Given the description of an element on the screen output the (x, y) to click on. 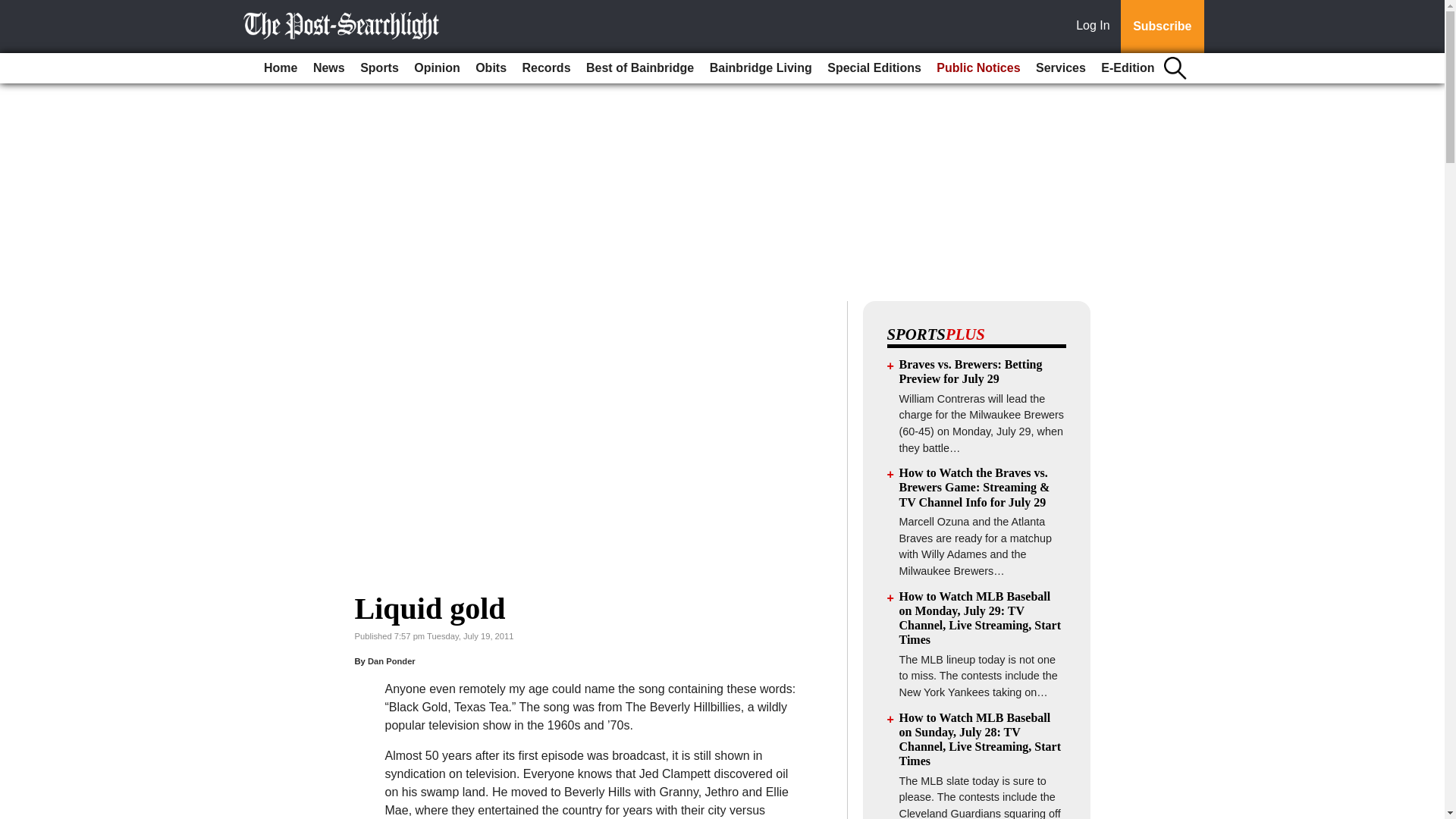
E-Edition (1127, 68)
Services (1060, 68)
Dan Ponder (391, 660)
News (328, 68)
Go (13, 9)
Best of Bainbridge (639, 68)
Special Editions (874, 68)
Subscribe (1162, 26)
Sports (378, 68)
Records (546, 68)
Obits (490, 68)
Public Notices (978, 68)
Bainbridge Living (760, 68)
Home (279, 68)
Opinion (436, 68)
